Given the description of an element on the screen output the (x, y) to click on. 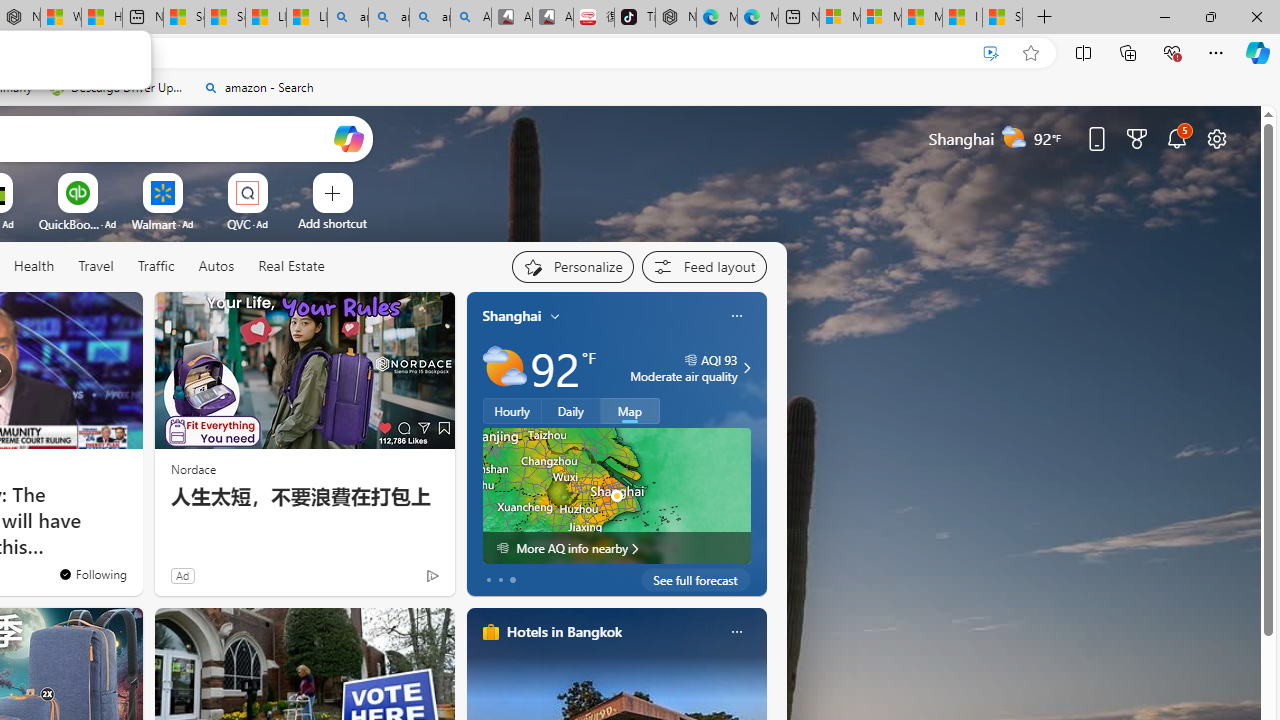
Traffic (155, 265)
Real Estate (290, 267)
aqi-icon (690, 359)
Microsoft Start (922, 17)
Descarga Driver Updater (118, 88)
amazon - Search Images (429, 17)
amazon - Search (388, 17)
Moderate air quality (744, 367)
Wildlife - MSN (60, 17)
tab-2 (511, 579)
Open Copilot (347, 138)
Open Copilot (347, 138)
Autos (215, 265)
